Given the description of an element on the screen output the (x, y) to click on. 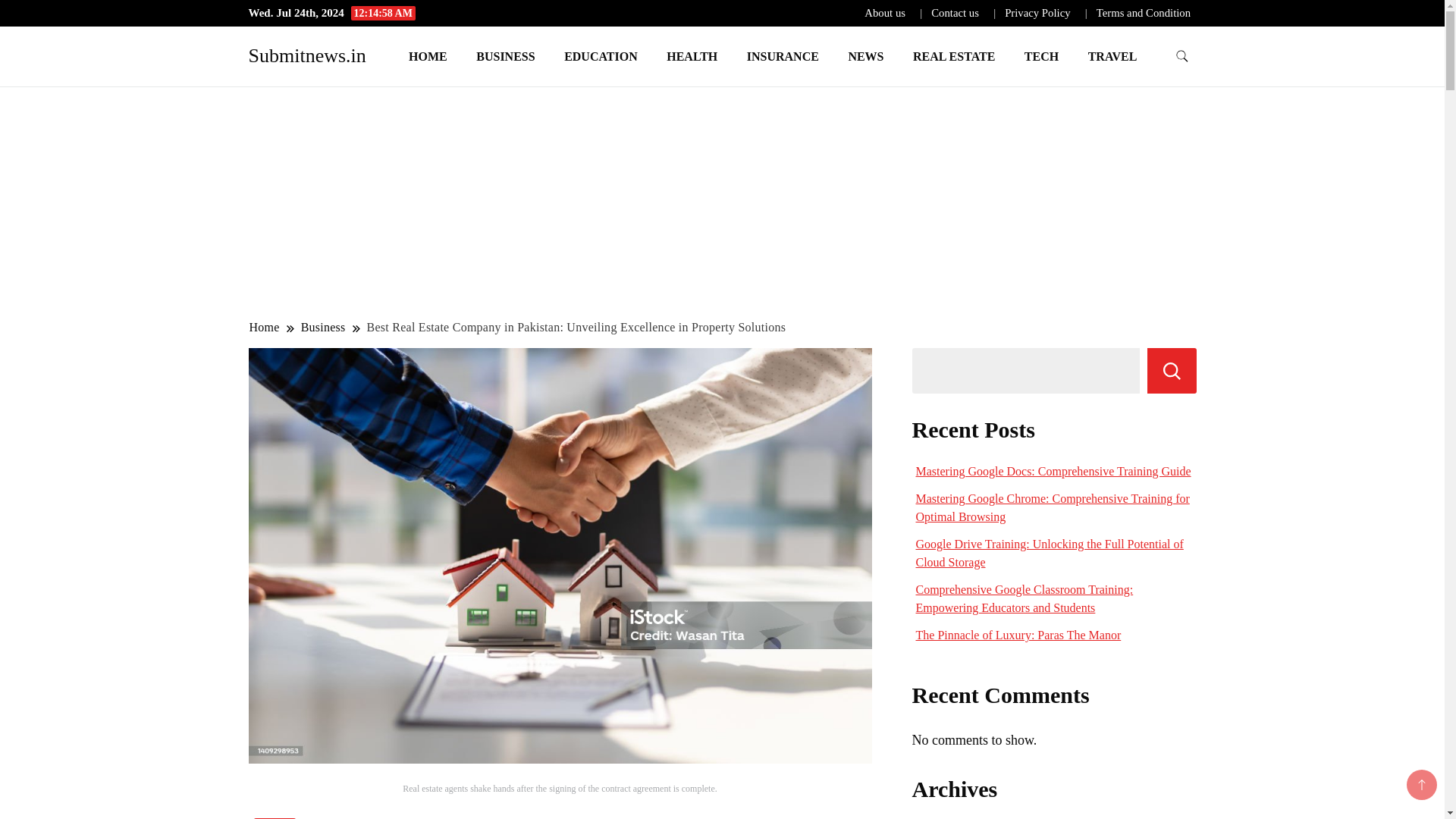
TECH (1041, 56)
Terms and Condition (1143, 12)
Contact us (954, 12)
BUSINESS (505, 56)
REAL ESTATE (953, 56)
Home (264, 327)
NEWS (865, 56)
Privacy Policy (1037, 12)
About us (884, 12)
TRAVEL (1112, 56)
Submitnews.in (307, 55)
HEALTH (691, 56)
Business (322, 327)
HOME (428, 56)
